Given the description of an element on the screen output the (x, y) to click on. 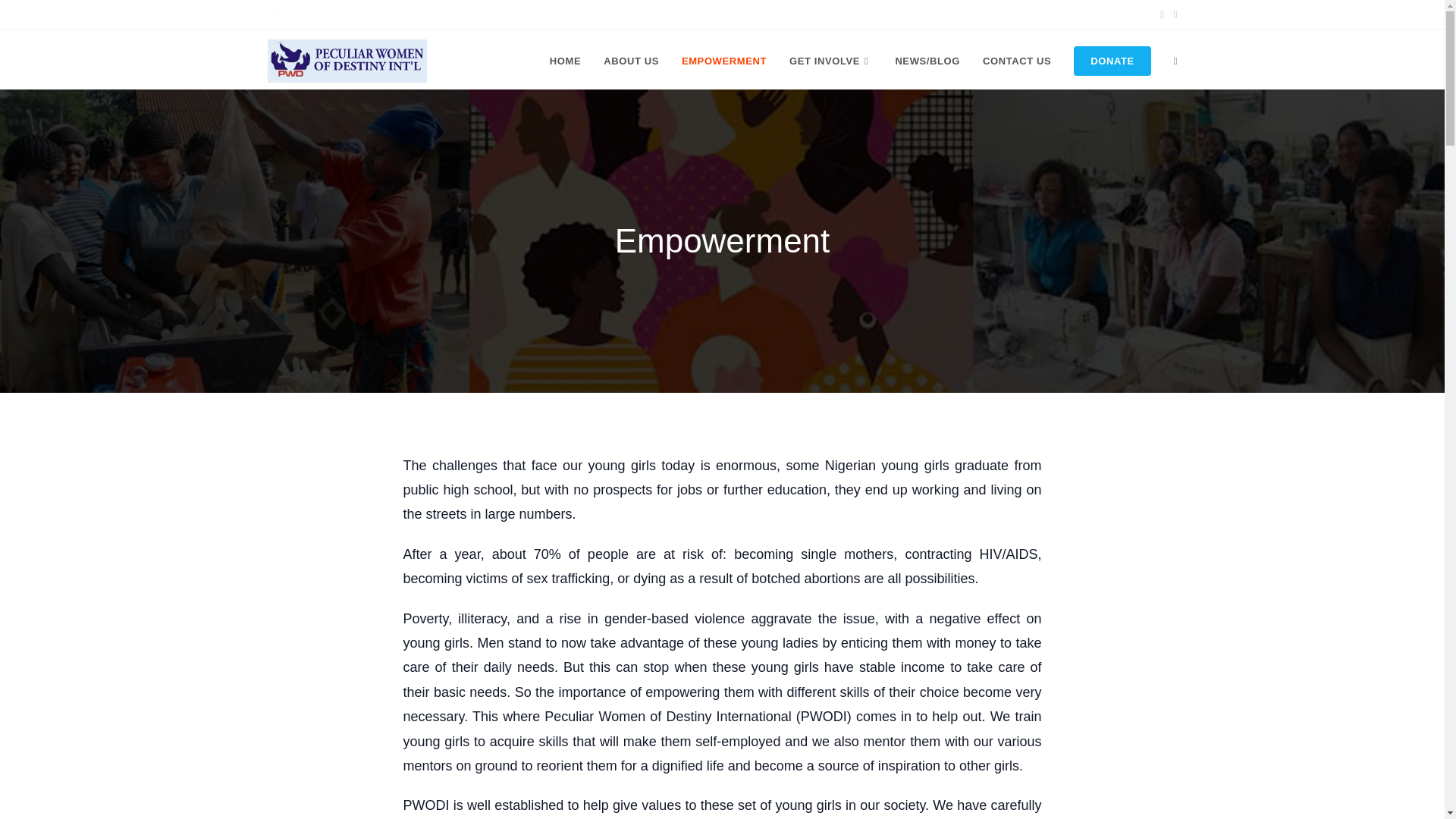
ABOUT US (630, 61)
HOME (565, 61)
DONATE (1111, 61)
GET INVOLVE (830, 61)
CONTACT US (1016, 61)
EMPOWERMENT (723, 61)
